Given the description of an element on the screen output the (x, y) to click on. 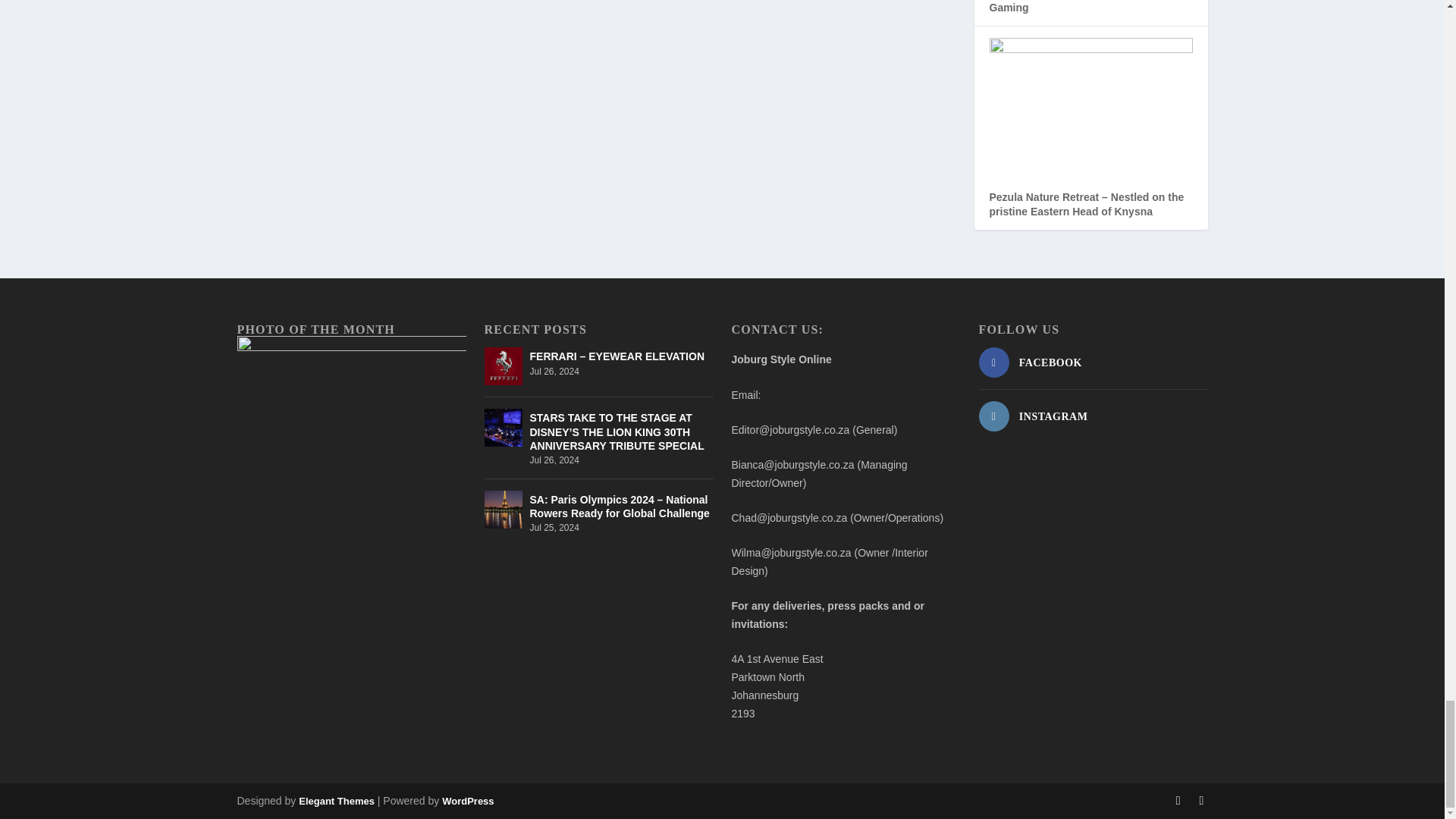
Photo of the Week (350, 410)
